Given the description of an element on the screen output the (x, y) to click on. 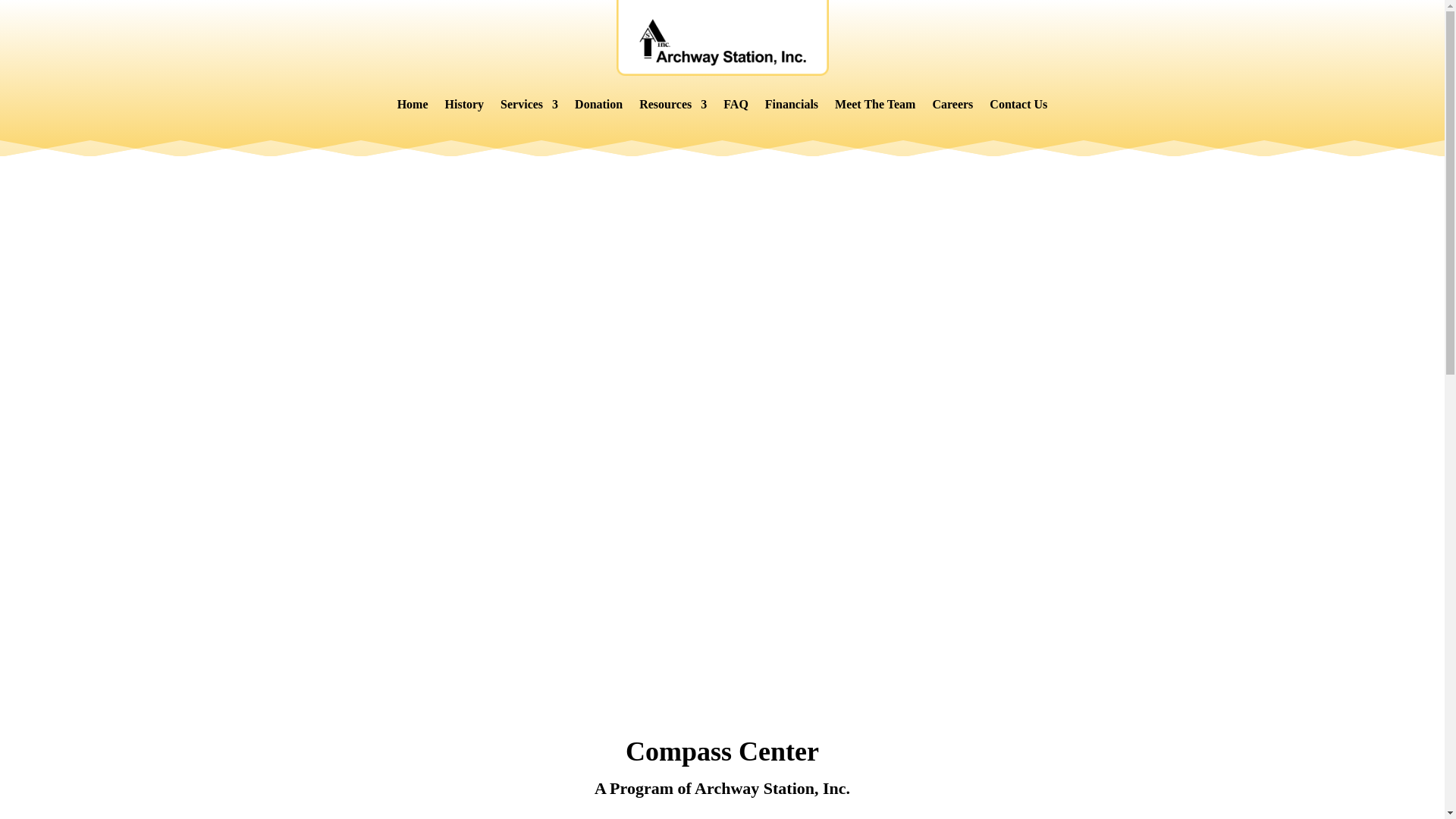
Financials (791, 104)
Contact Us (1018, 104)
Services (528, 104)
Resources (672, 104)
Meet The Team (874, 104)
